Given the description of an element on the screen output the (x, y) to click on. 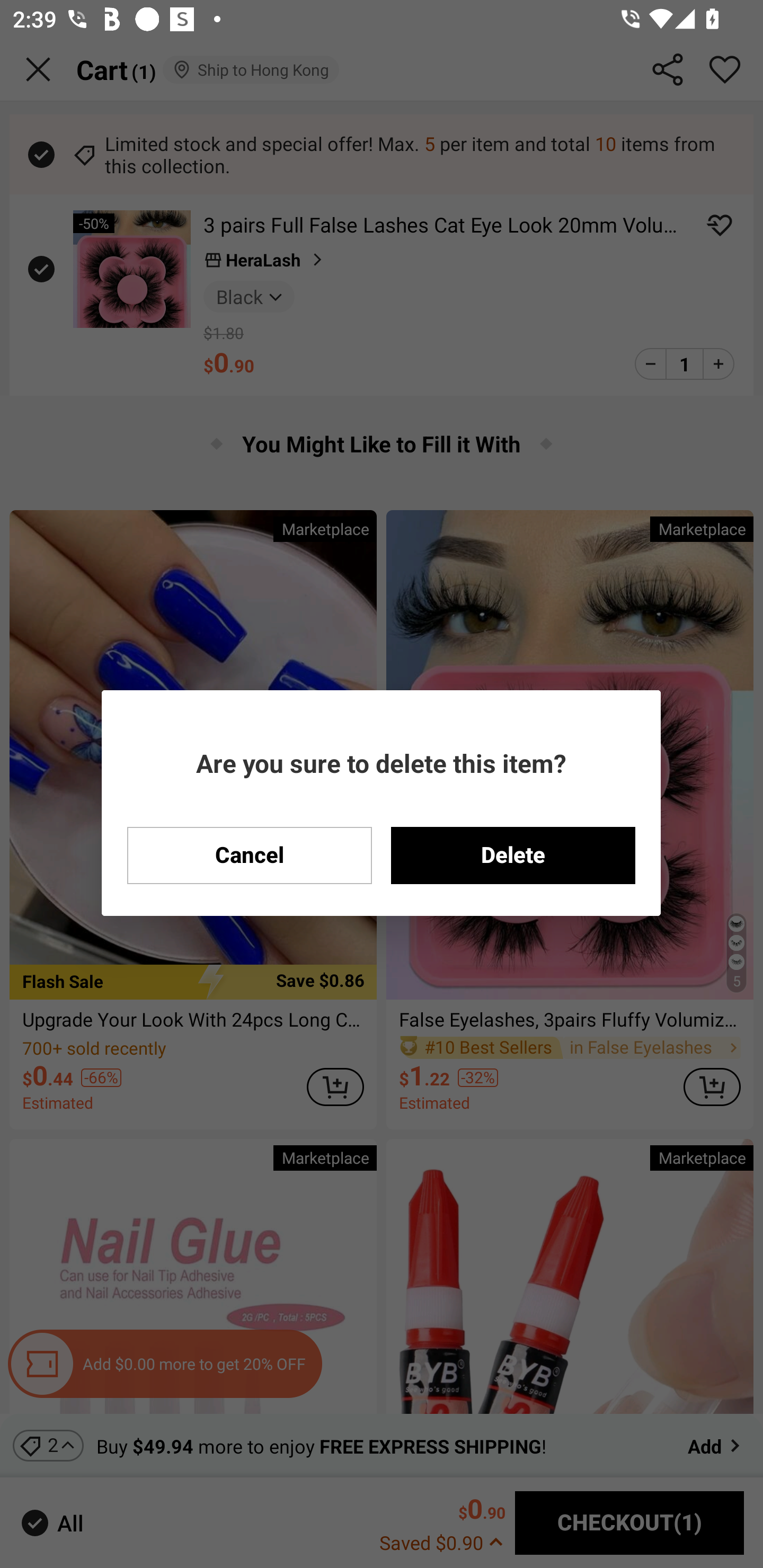
Are you sure to delete this item? (380, 763)
Cancel (249, 855)
Delete (512, 855)
